Given the description of an element on the screen output the (x, y) to click on. 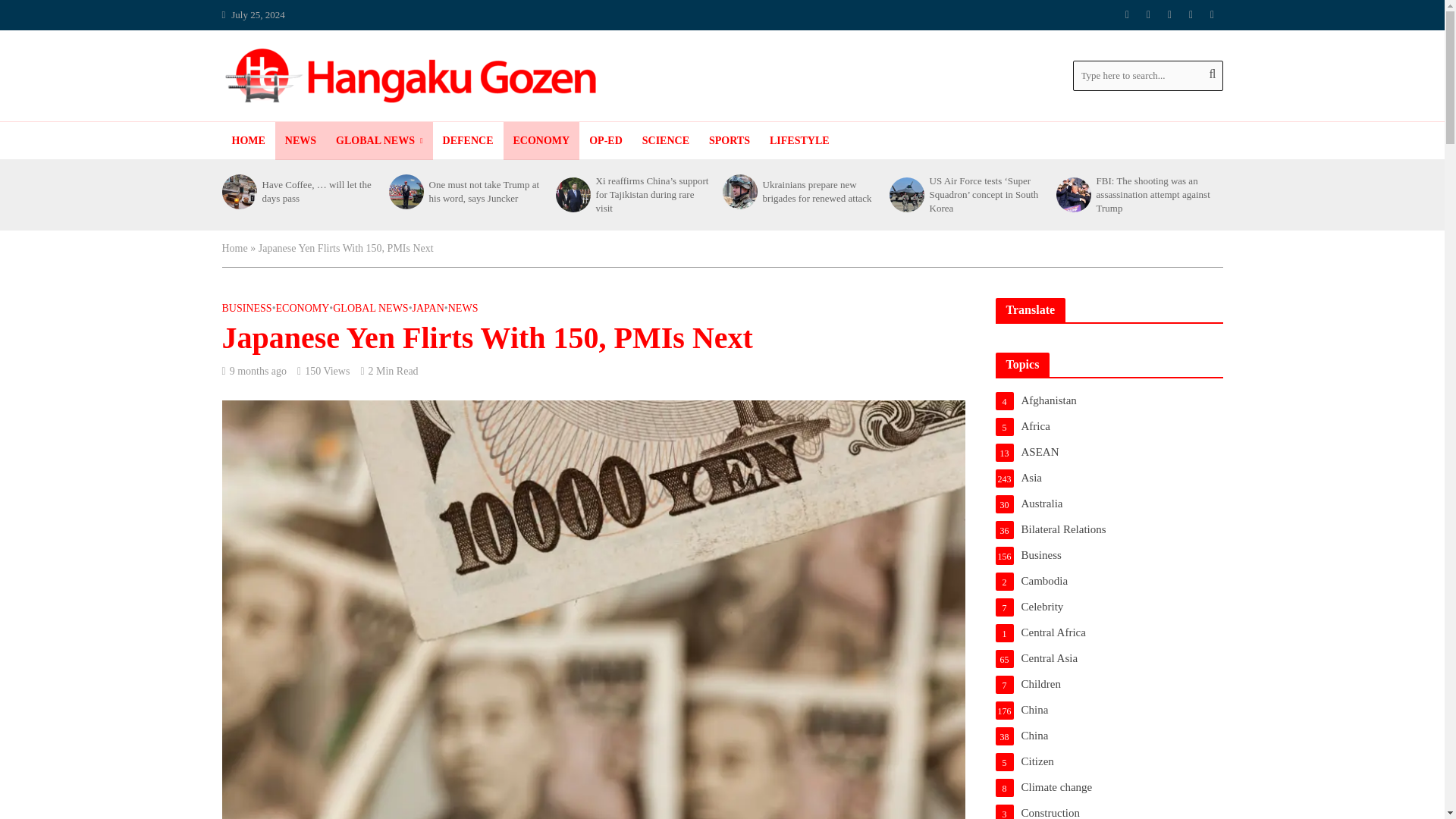
Ukrainians prepare new brigades for renewed attack (738, 191)
One must not take Trump at his word, says Juncker (404, 191)
GLOBAL NEWS (379, 140)
NEWS (300, 140)
FBI: The shooting was an assassination attempt against Trump (1071, 194)
HOME (248, 140)
